Given the description of an element on the screen output the (x, y) to click on. 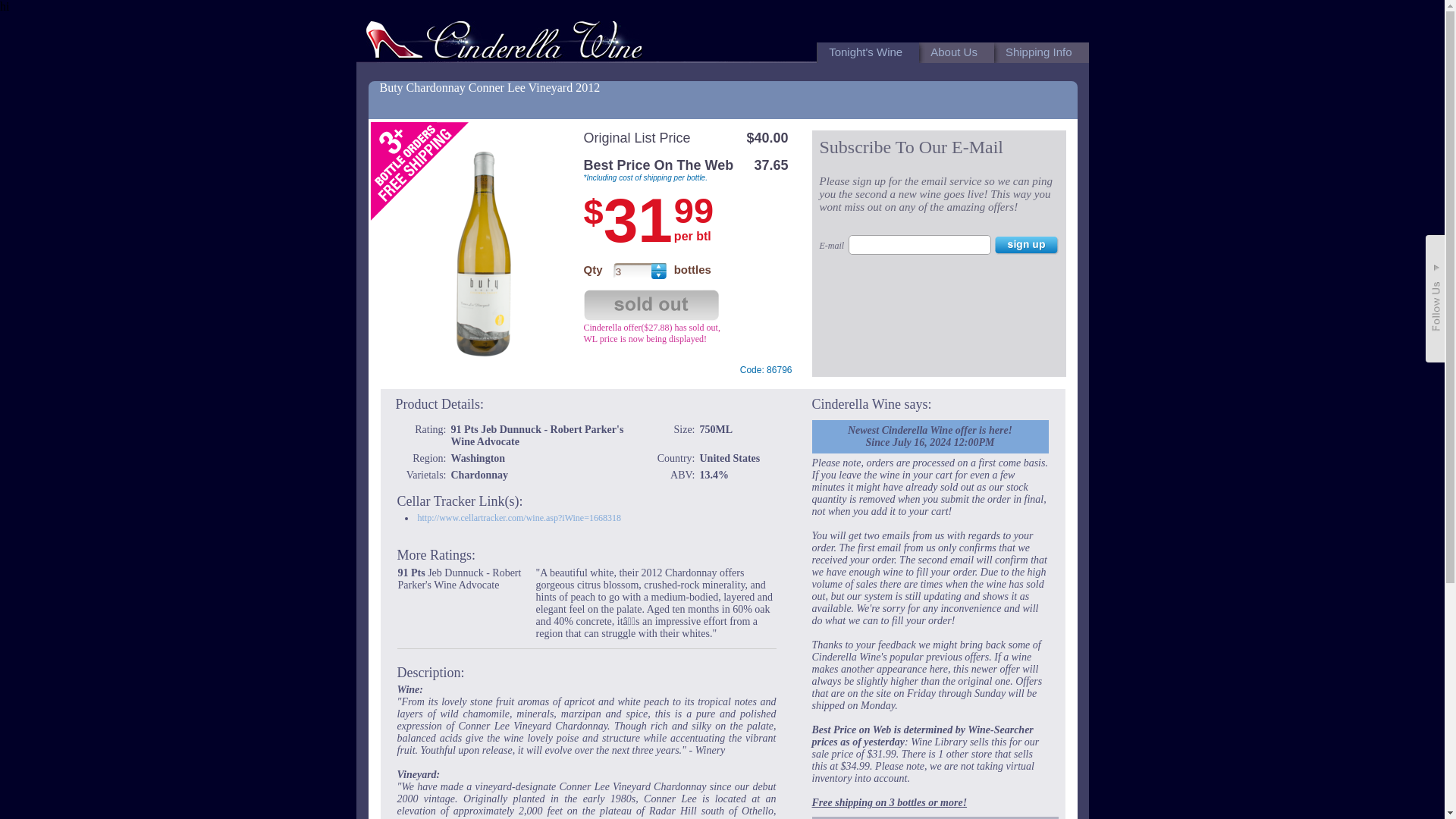
Buty Chardonnay Conner Lee Vineyard 2012 (488, 87)
3 (631, 269)
Ridiculously great prices, but for only 24 hours! (503, 39)
Ridiculously great prices, but for only 24 hours! (507, 35)
Product bottle shot. (483, 253)
Ridiculously great prices, but for only 24 hours! (503, 42)
